Given the description of an element on the screen output the (x, y) to click on. 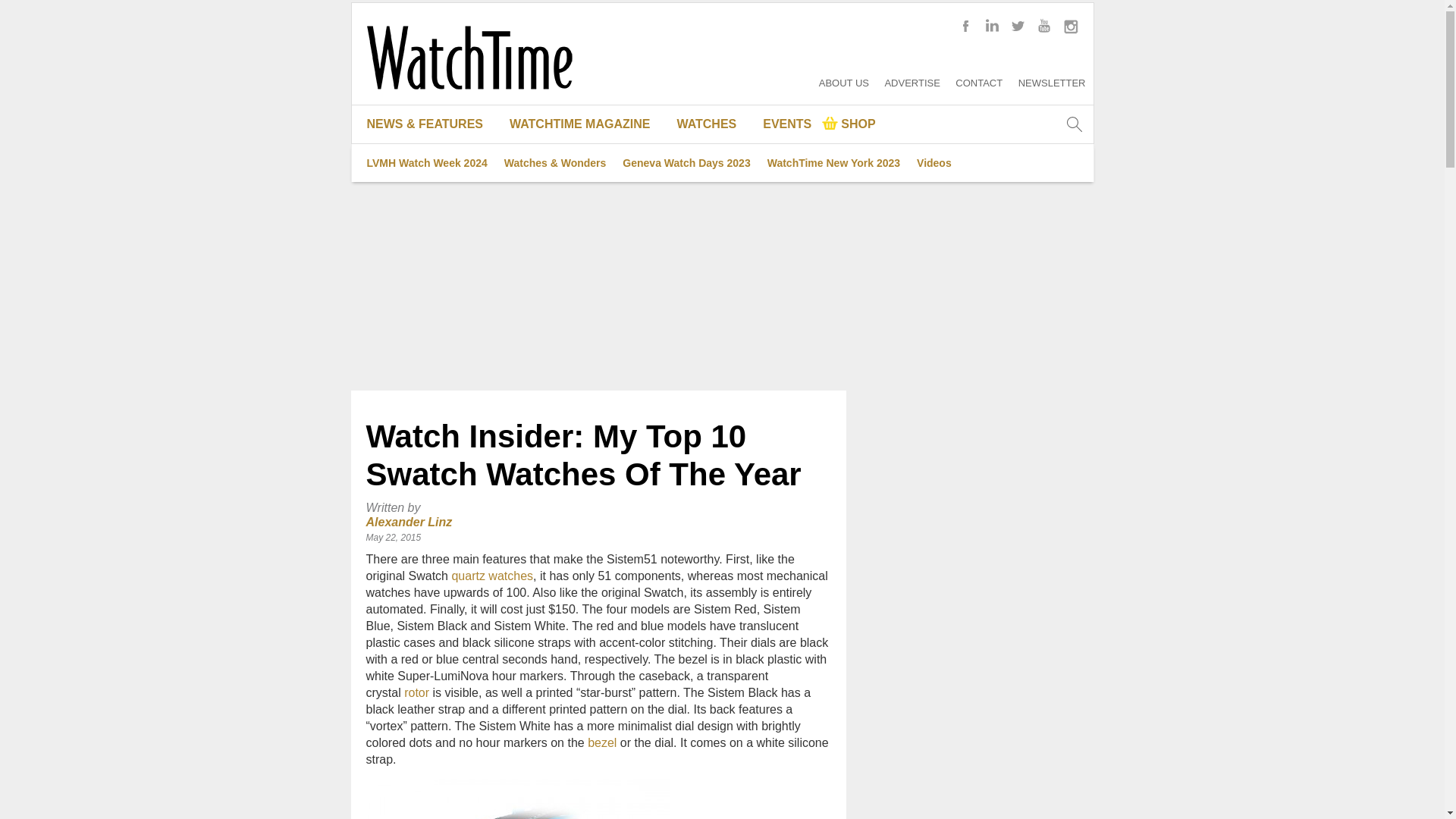
WATCH REVIEWS (430, 275)
SHOP (848, 124)
LVMH Watch Week 2024 (426, 162)
WATCH FEATURES (430, 199)
WatchTime New York 2023 (833, 162)
WATCH NEWS (430, 238)
WATCH TERM GLOSSARY (712, 238)
WATCHES (712, 124)
SUBSCRIBE NOW (585, 275)
bezel (601, 742)
WatchTime Shop (848, 124)
WATCH BLOG (430, 161)
CURRENT ISSUE (585, 161)
WATCHTIME MAGAZINE (585, 124)
Watch Brands (712, 161)
